Given the description of an element on the screen output the (x, y) to click on. 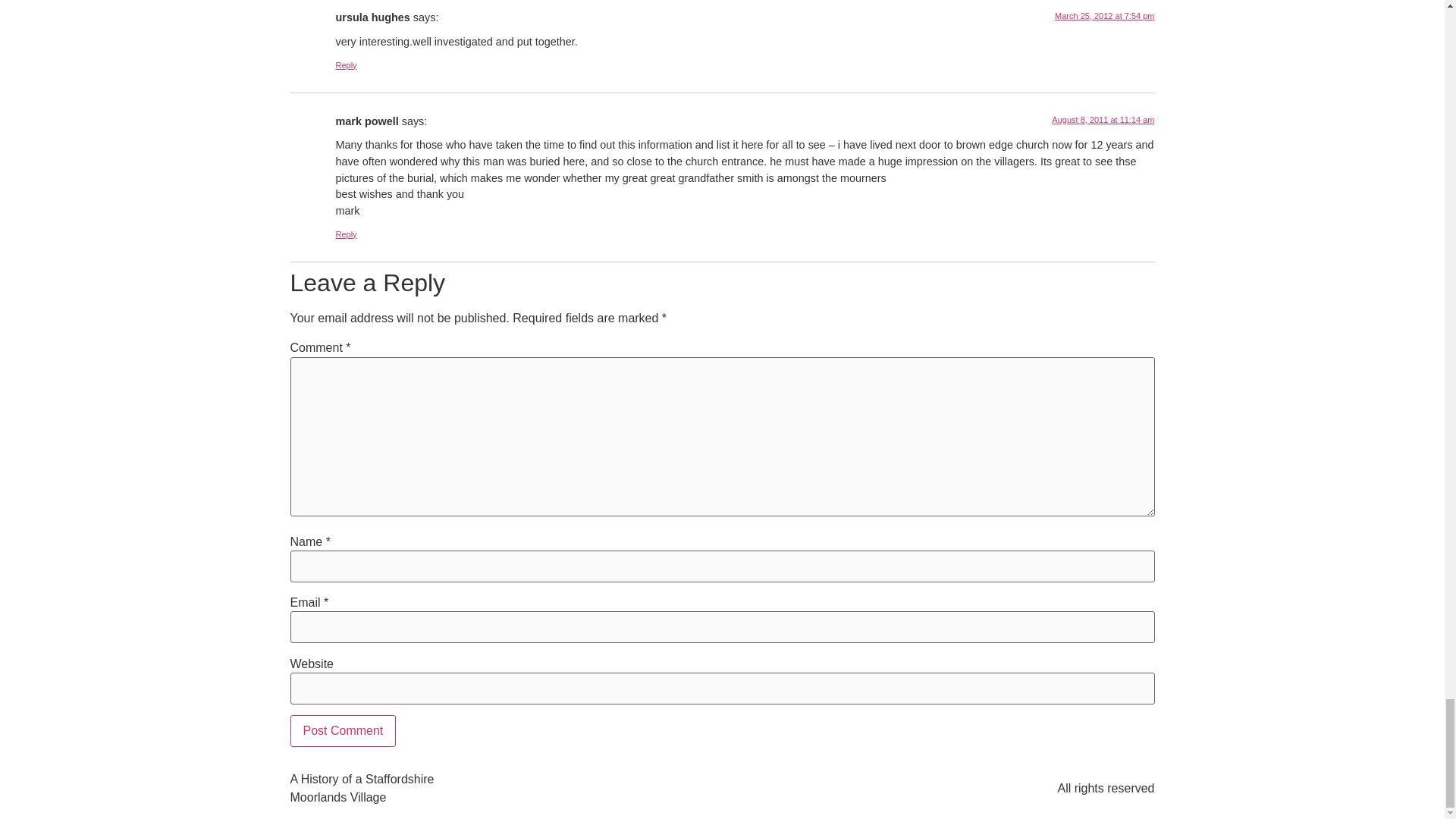
Post Comment (342, 730)
